Given the description of an element on the screen output the (x, y) to click on. 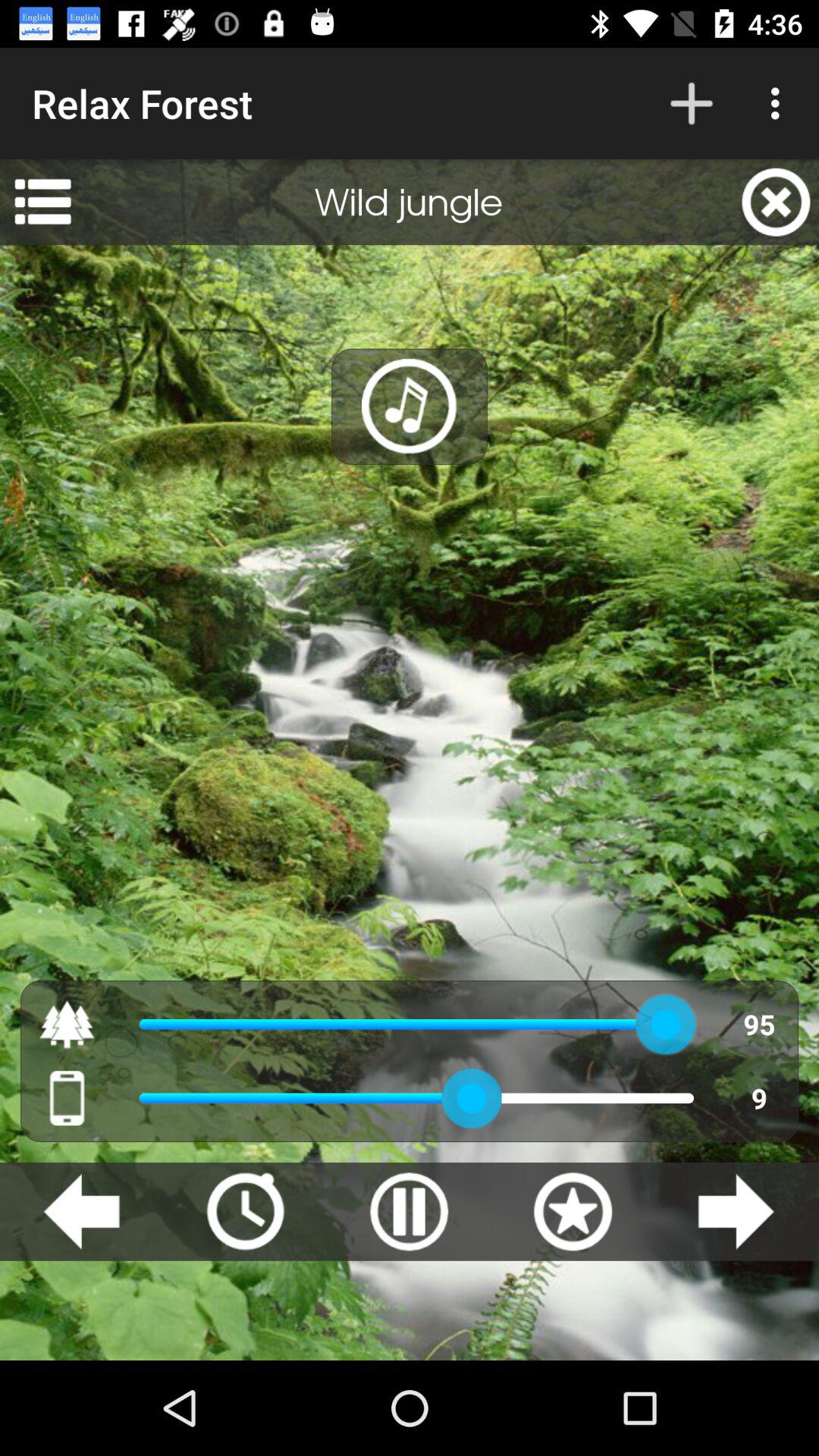
turn off icon next to relax forest icon (691, 103)
